Given the description of an element on the screen output the (x, y) to click on. 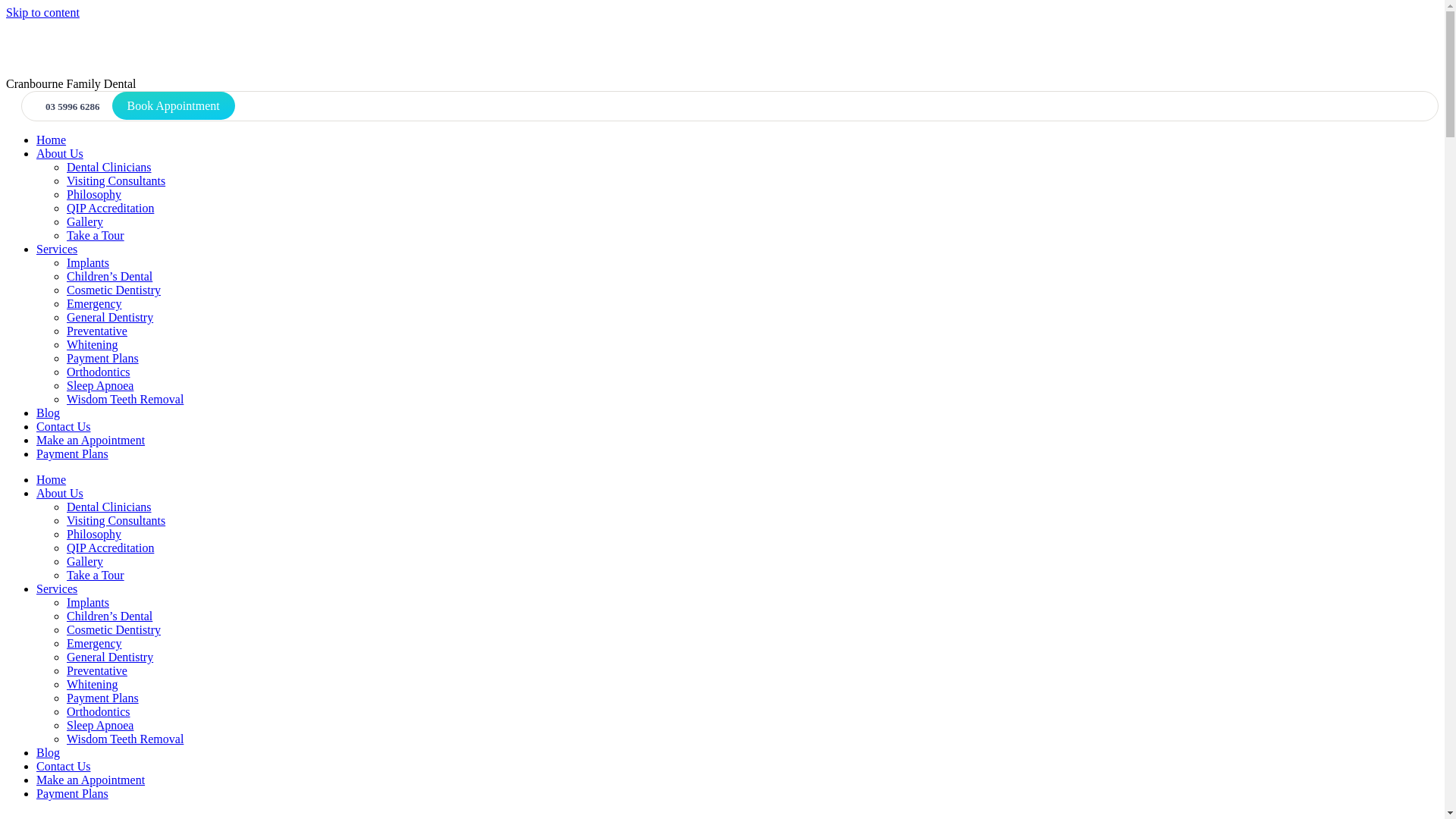
Implants Element type: text (87, 602)
Services Element type: text (56, 588)
03 5996 6286 Element type: text (68, 106)
General Dentistry Element type: text (109, 656)
About Us Element type: text (59, 153)
Philosophy Element type: text (93, 194)
Whitening Element type: text (92, 683)
Make an Appointment Element type: text (90, 439)
About Us Element type: text (59, 492)
Gallery Element type: text (84, 221)
Make an Appointment Element type: text (90, 779)
Payment Plans Element type: text (102, 697)
Wisdom Teeth Removal Element type: text (124, 738)
Payment Plans Element type: text (72, 793)
Emergency Element type: text (94, 303)
Book Appointment Element type: text (173, 105)
Blog Element type: text (47, 412)
Orthodontics Element type: text (98, 711)
Orthodontics Element type: text (98, 371)
Contact Us Element type: text (63, 765)
Whitening Element type: text (92, 344)
Contact Us Element type: text (63, 426)
Wisdom Teeth Removal Element type: text (124, 398)
Philosophy Element type: text (93, 533)
Take a Tour Element type: text (95, 235)
Dental Clinicians Element type: text (108, 166)
Payment Plans Element type: text (72, 453)
Dental Clinicians Element type: text (108, 506)
Implants Element type: text (87, 262)
Home Element type: text (50, 479)
Take a Tour Element type: text (95, 574)
Home Element type: text (50, 139)
Preventative Element type: text (96, 670)
Visiting Consultants Element type: text (115, 180)
QIP Accreditation Element type: text (109, 547)
General Dentistry Element type: text (109, 316)
Gallery Element type: text (84, 561)
Skip to content Element type: text (42, 12)
Payment Plans Element type: text (102, 357)
QIP Accreditation Element type: text (109, 207)
Blog Element type: text (47, 752)
Emergency Element type: text (94, 643)
Cosmetic Dentistry Element type: text (113, 289)
Preventative Element type: text (96, 330)
Cosmetic Dentistry Element type: text (113, 629)
Visiting Consultants Element type: text (115, 520)
Sleep Apnoea Element type: text (99, 385)
Sleep Apnoea Element type: text (99, 724)
Services Element type: text (56, 248)
